Given the description of an element on the screen output the (x, y) to click on. 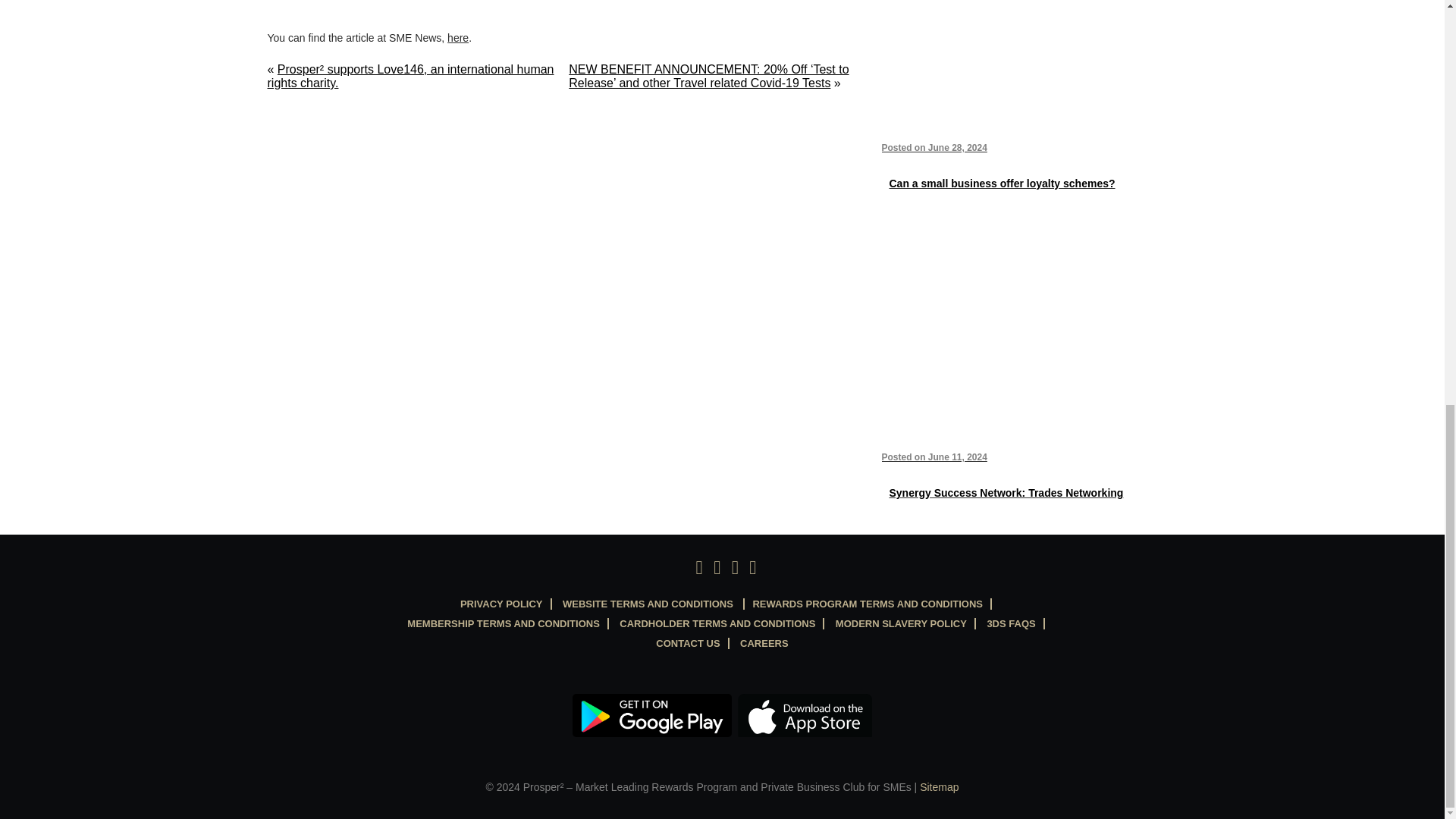
here (457, 37)
